Given the description of an element on the screen output the (x, y) to click on. 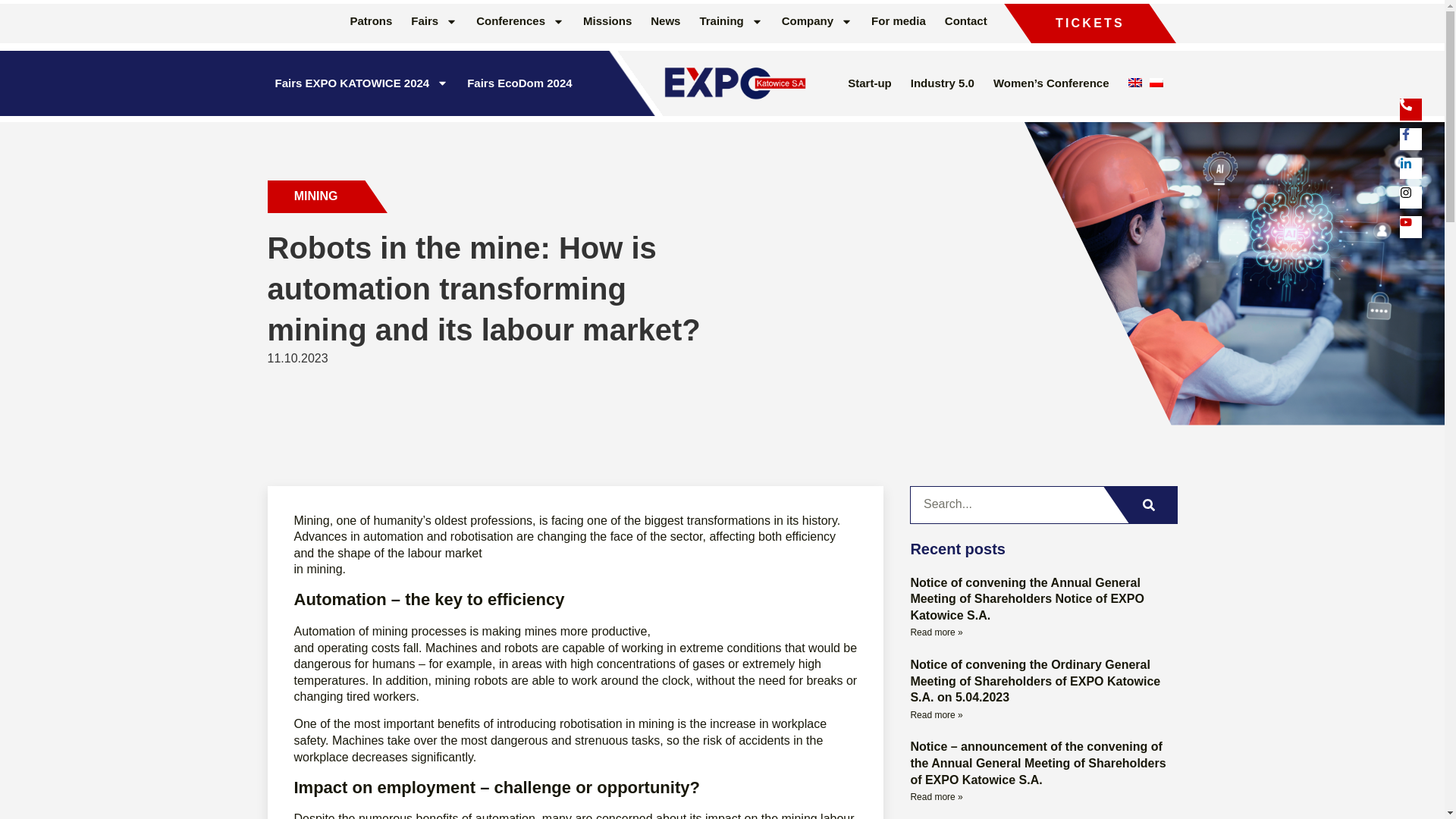
logo (733, 82)
